Given the description of an element on the screen output the (x, y) to click on. 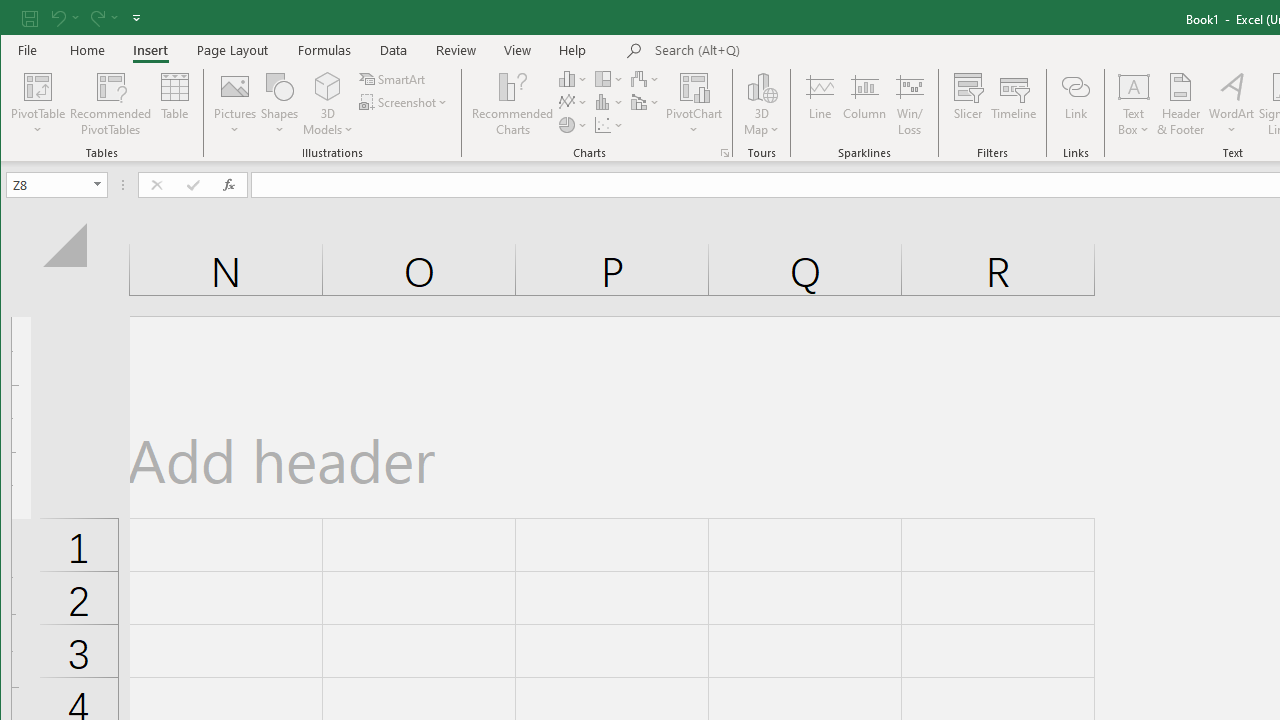
PivotTable (37, 104)
Win/Loss (909, 104)
Text Box (1133, 104)
Insert Statistic Chart (609, 101)
Pictures (235, 104)
3D Map (762, 104)
Recommended Charts (724, 152)
PivotChart (694, 86)
